Given the description of an element on the screen output the (x, y) to click on. 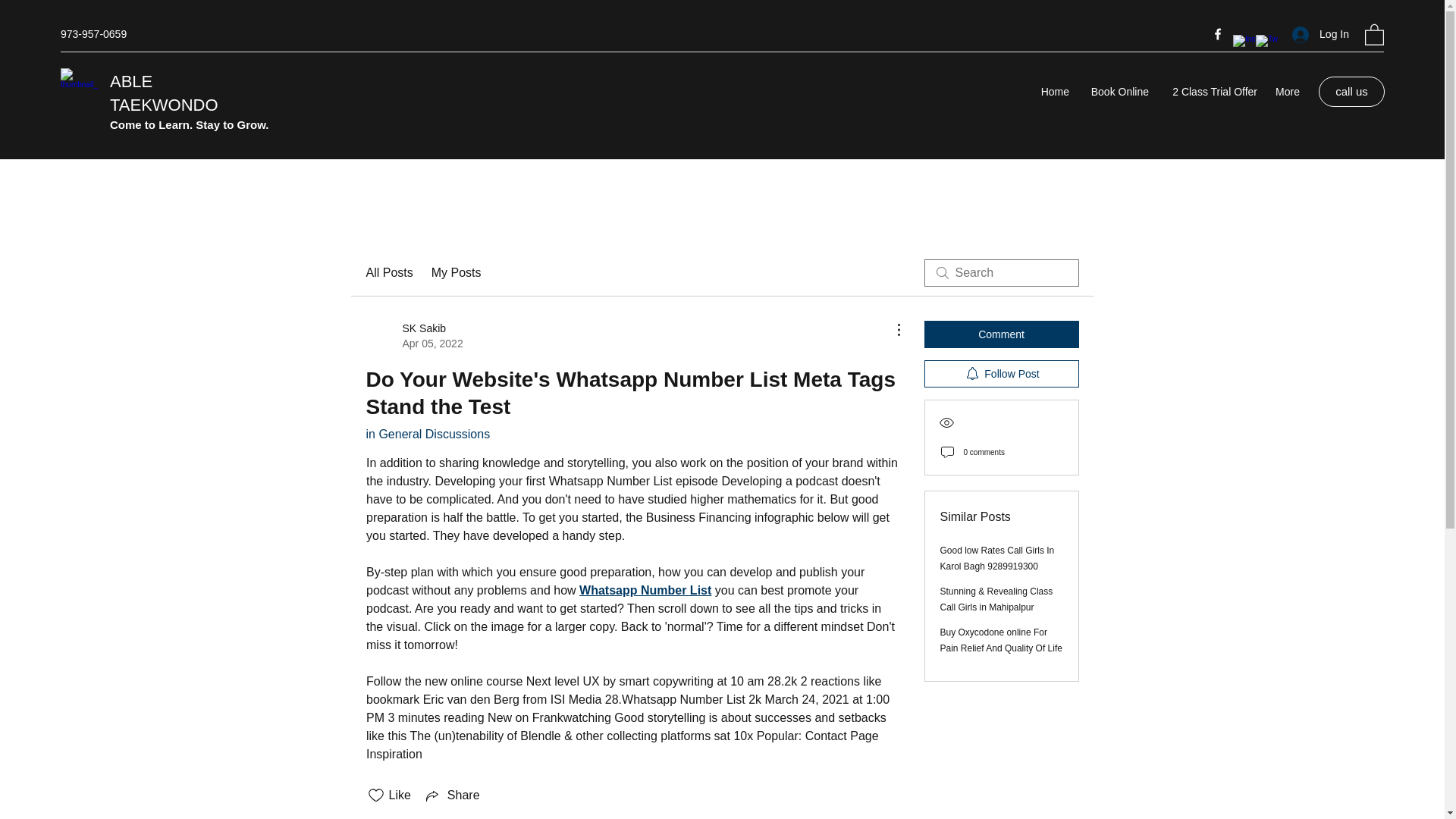
Share (451, 795)
Follow Post (1000, 373)
Whatsapp Number List (645, 590)
2 Class Trial Offer (1210, 91)
Book Online (1116, 91)
My Posts (455, 272)
Buy Oxycodone online For Pain Relief And Quality Of Life (1001, 640)
Comment (414, 336)
call us (1000, 334)
